Given the description of an element on the screen output the (x, y) to click on. 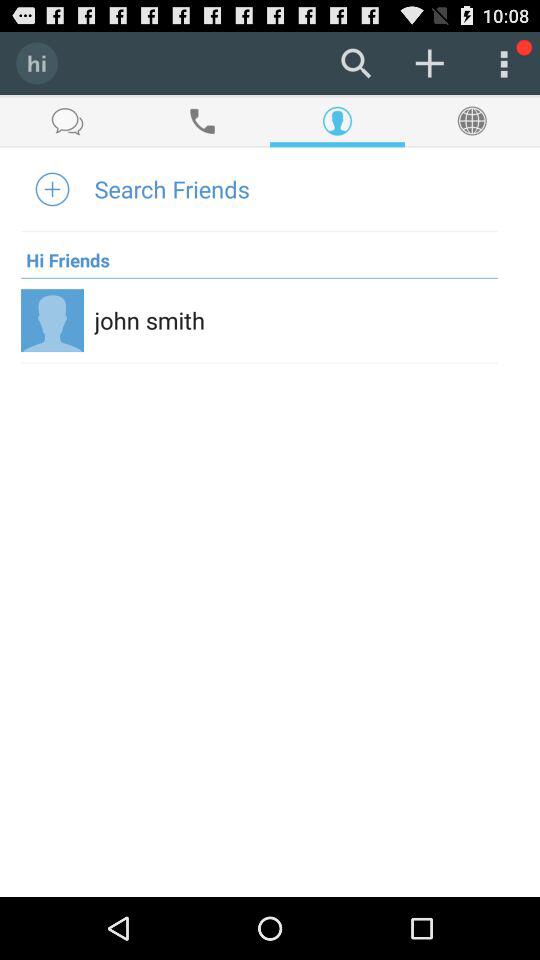
click icon below the hi friends app (259, 277)
